Given the description of an element on the screen output the (x, y) to click on. 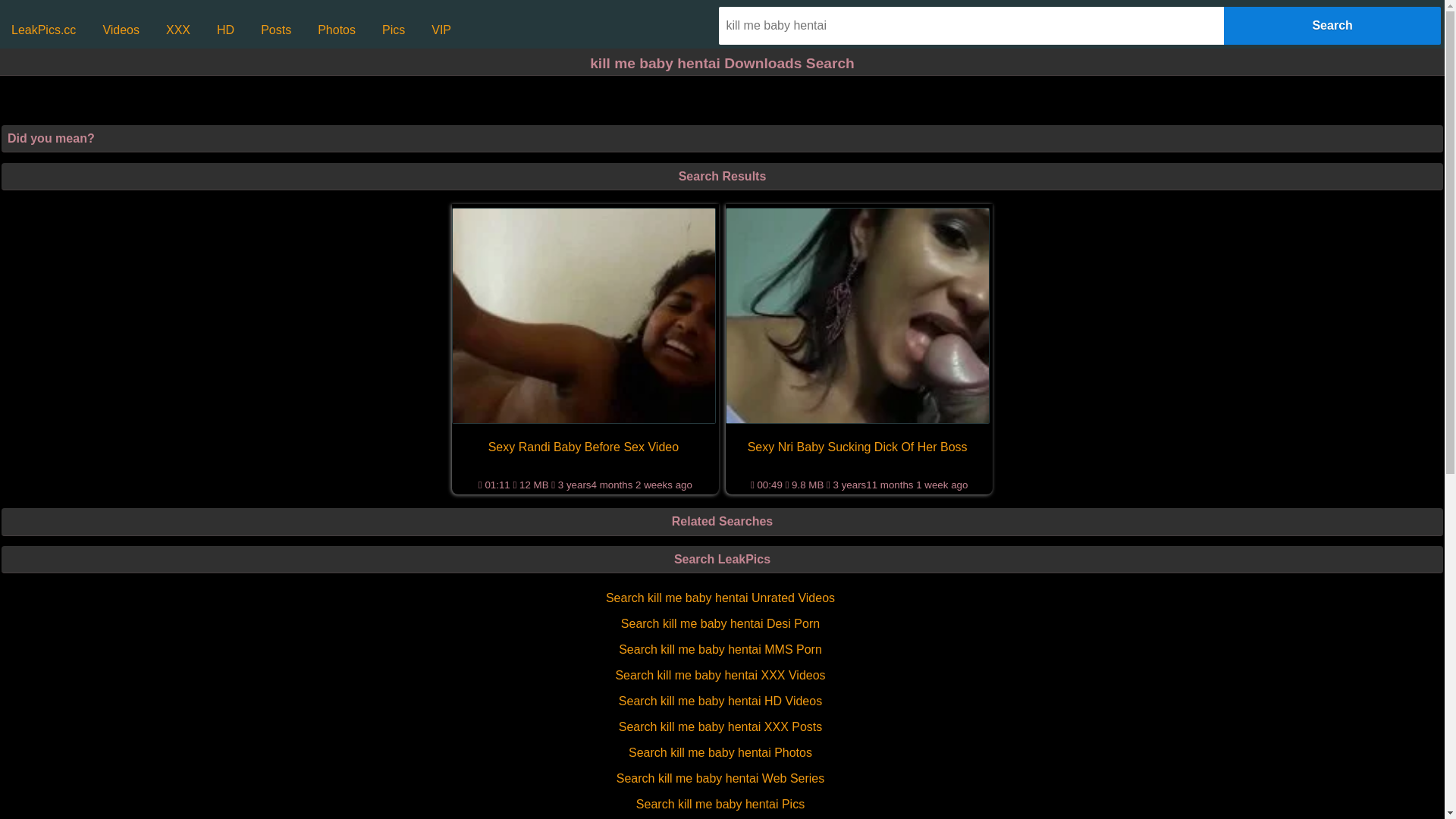
VIP Element type: text (440, 29)
Search kill me baby hentai Pics Element type: text (720, 804)
Search kill me baby hentai XXX Posts Element type: text (720, 727)
Search kill me baby hentai Unrated Videos Element type: text (719, 598)
LeakPics.cc Element type: text (43, 29)
1585957500 Element type: hover (857, 315)
Search kill me baby hentai XXX Videos Element type: text (720, 675)
1602448200 Element type: hover (583, 315)
Search kill me baby hentai HD Videos Element type: text (720, 701)
Pics Element type: text (393, 29)
Search kill me baby hentai Photos Element type: text (720, 752)
Sexy Nri Baby Sucking Dick Of Her Boss Element type: text (857, 447)
XXX Element type: text (177, 29)
Search Element type: text (1331, 25)
Search kill me baby hentai MMS Porn Element type: text (720, 649)
Sexy Randi Baby Before Sex Video Element type: text (583, 447)
Search kill me baby hentai Desi Porn Element type: text (720, 624)
Videos Element type: text (120, 29)
Posts Element type: text (275, 29)
HD Element type: text (225, 29)
Photos Element type: text (336, 29)
Search kill me baby hentai Web Series Element type: text (720, 778)
